Given the description of an element on the screen output the (x, y) to click on. 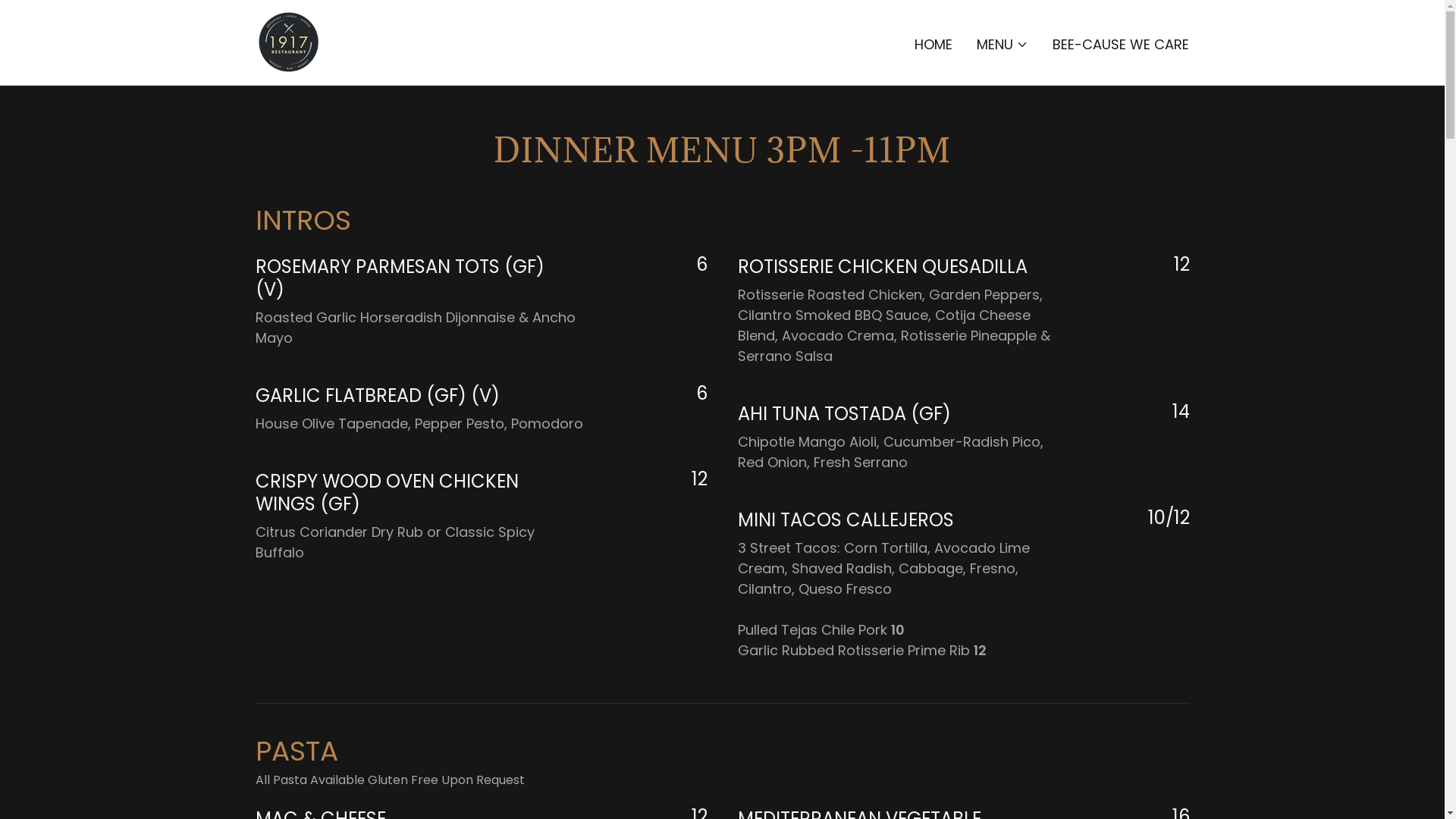
MENU Element type: text (1002, 43)
HOME Element type: text (933, 43)
BEE-CAUSE WE CARE Element type: text (1120, 43)
